Given the description of an element on the screen output the (x, y) to click on. 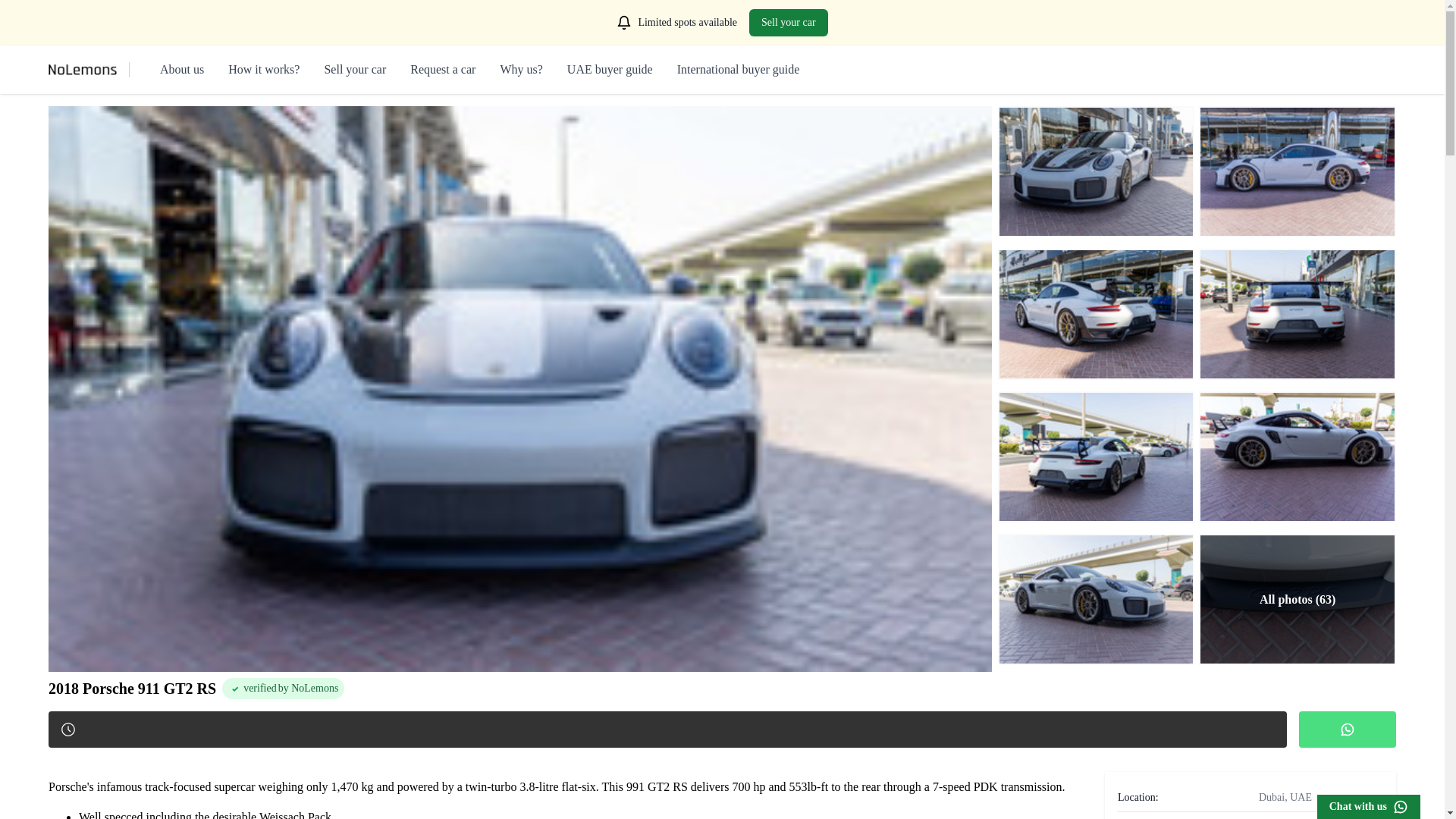
Request a car (442, 69)
International buyer guide (738, 69)
Why us? (520, 69)
Sell your car (354, 69)
Chat with us (1369, 806)
UAE buyer guide (609, 69)
Sell your car (788, 22)
About us (181, 69)
How it works? (263, 69)
